Given the description of an element on the screen output the (x, y) to click on. 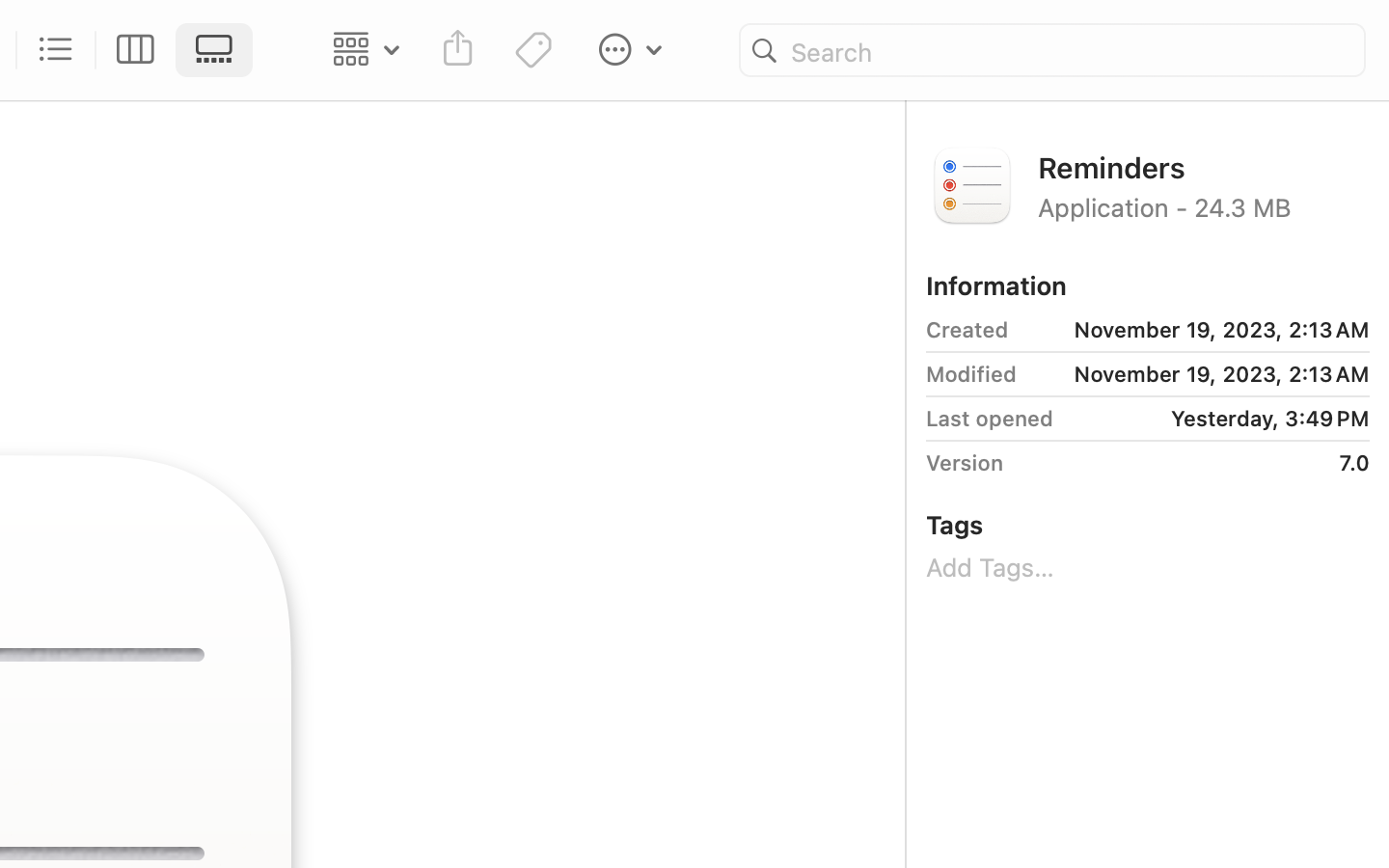
November 19, 2023, 2:13 AM Element type: AXStaticText (1196, 329)
1 Element type: AXRadioButton (219, 49)
Yesterday, 3:49 PM Element type: AXStaticText (1217, 418)
